Given the description of an element on the screen output the (x, y) to click on. 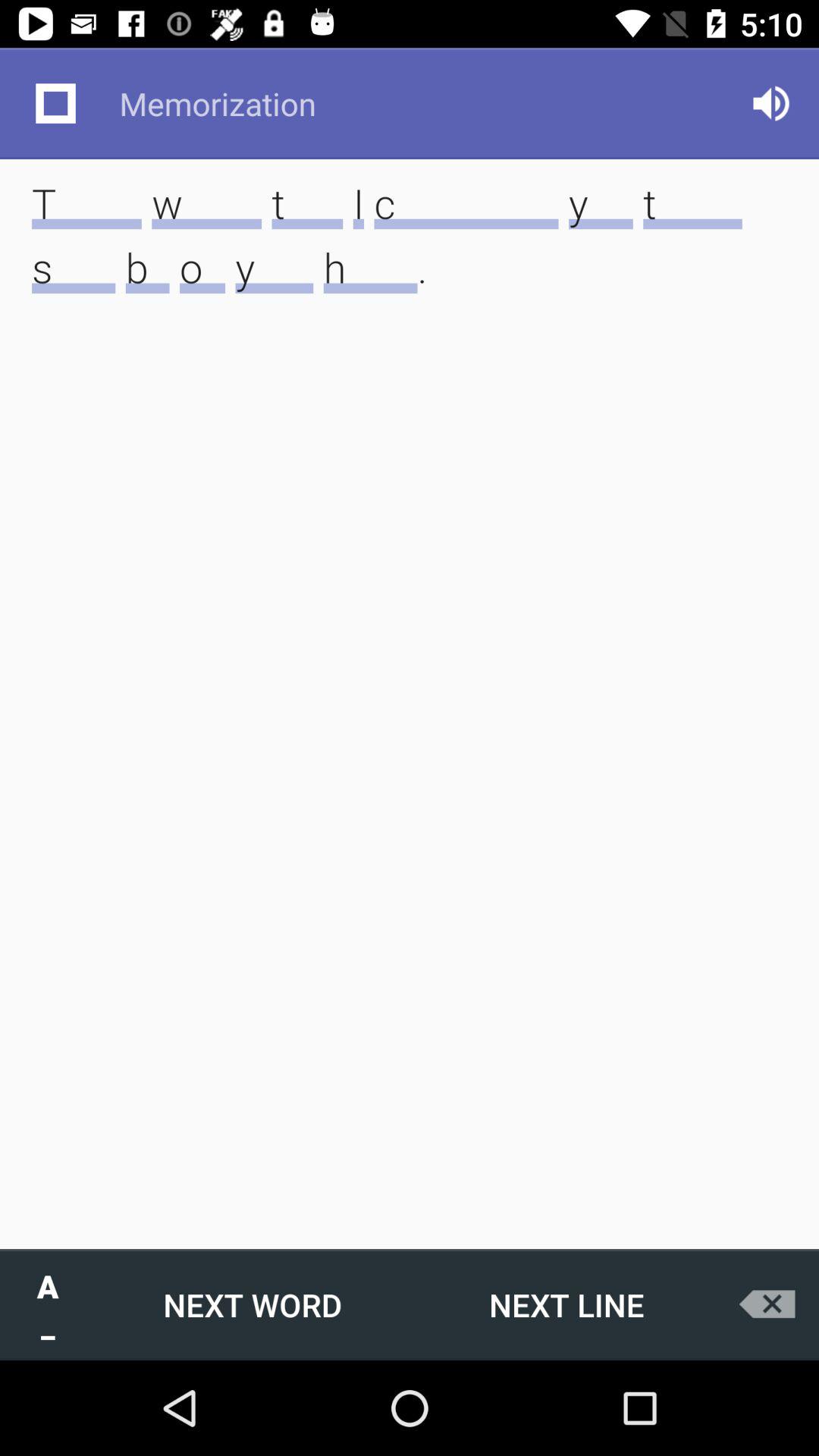
jump to the these words that icon (409, 258)
